Given the description of an element on the screen output the (x, y) to click on. 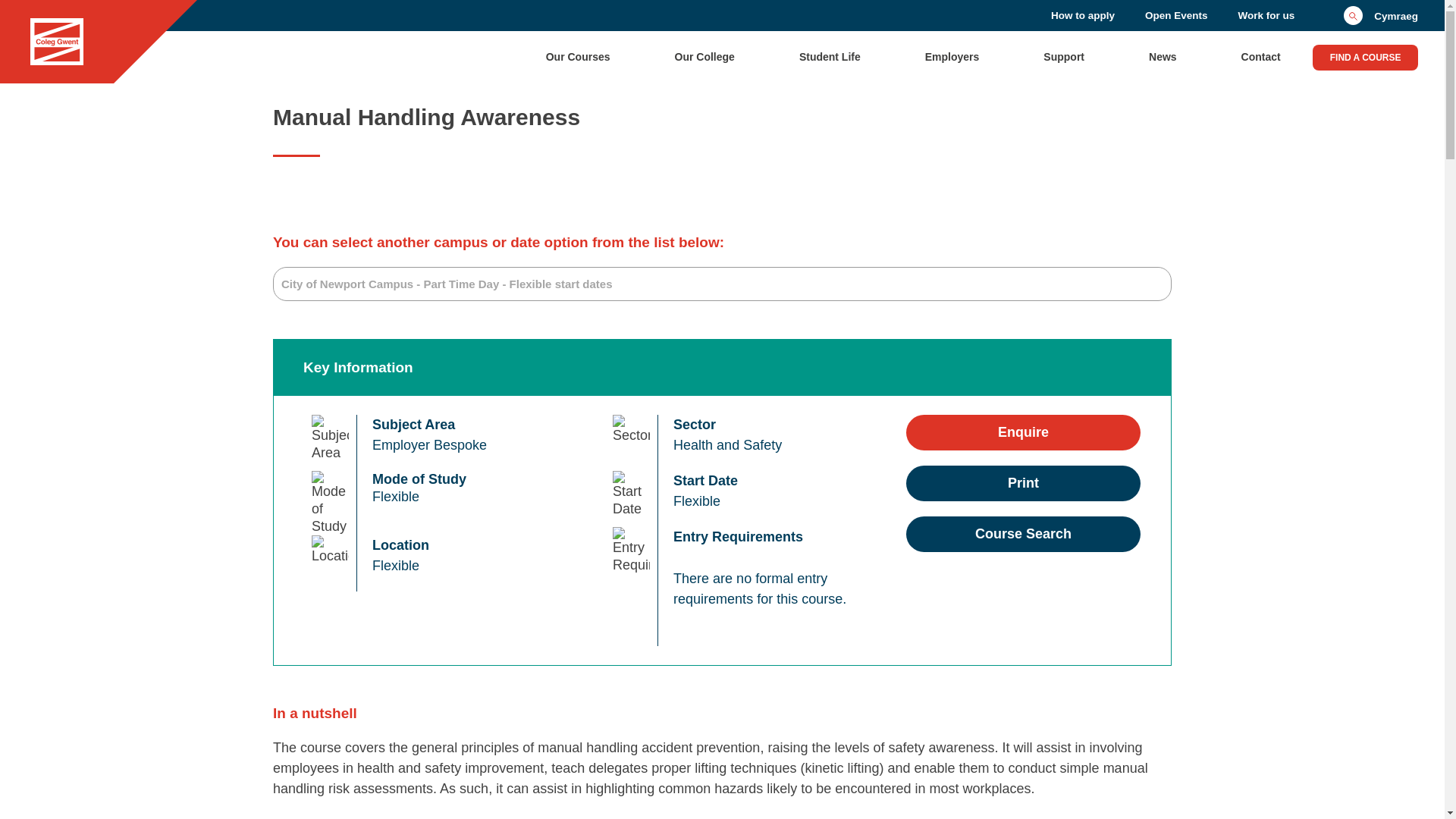
Our Courses (578, 56)
How to apply (1083, 15)
Cymraeg (1396, 14)
Go to the homepage (56, 41)
Open Events (1176, 15)
Our College (705, 56)
Work for us (1265, 15)
